Given the description of an element on the screen output the (x, y) to click on. 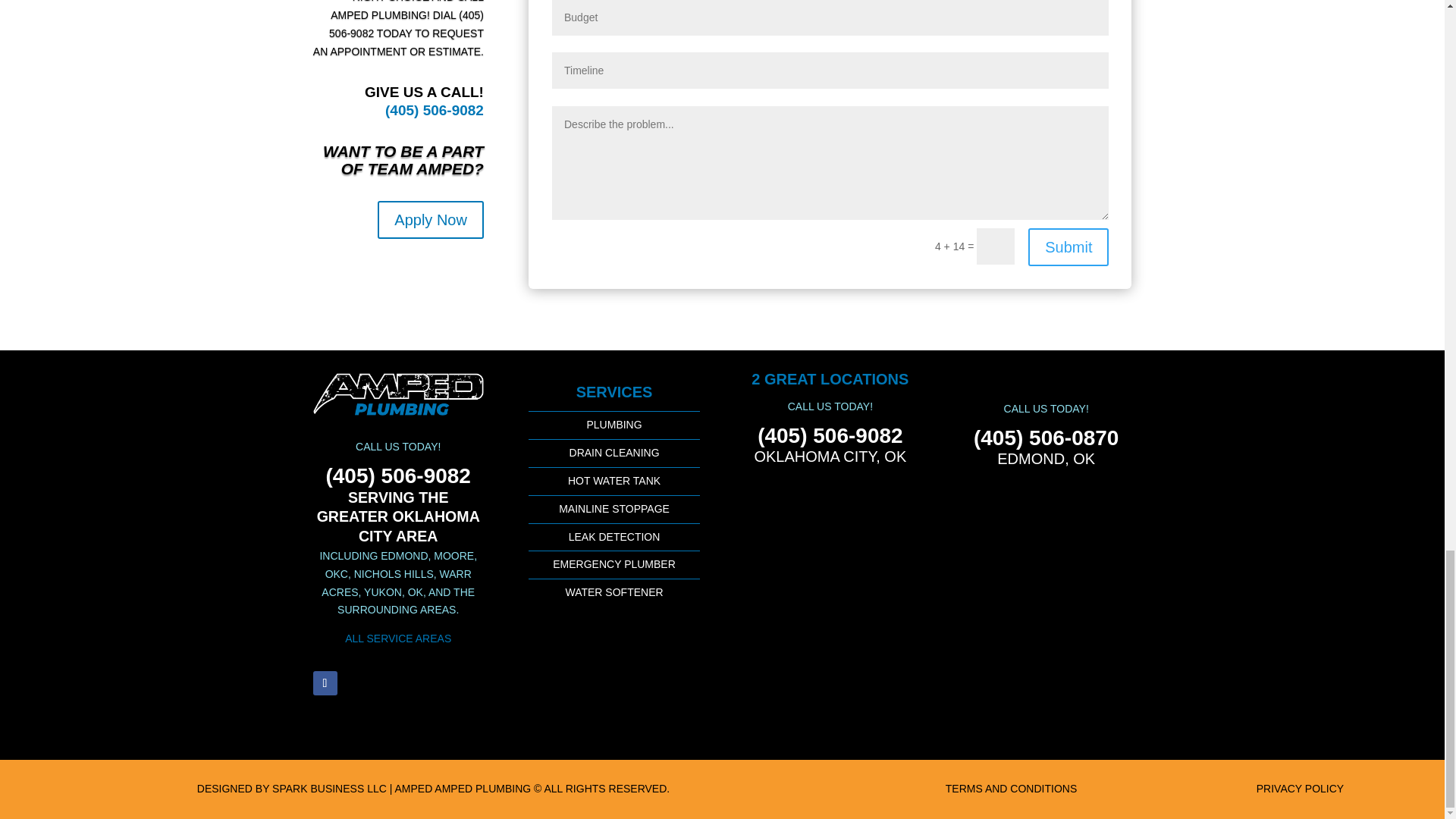
Submit (1067, 247)
Apply Now (430, 219)
amped-plumbing-logo (398, 394)
ALL SERVICE AREAS (398, 638)
Follow on Facebook (324, 682)
